Given the description of an element on the screen output the (x, y) to click on. 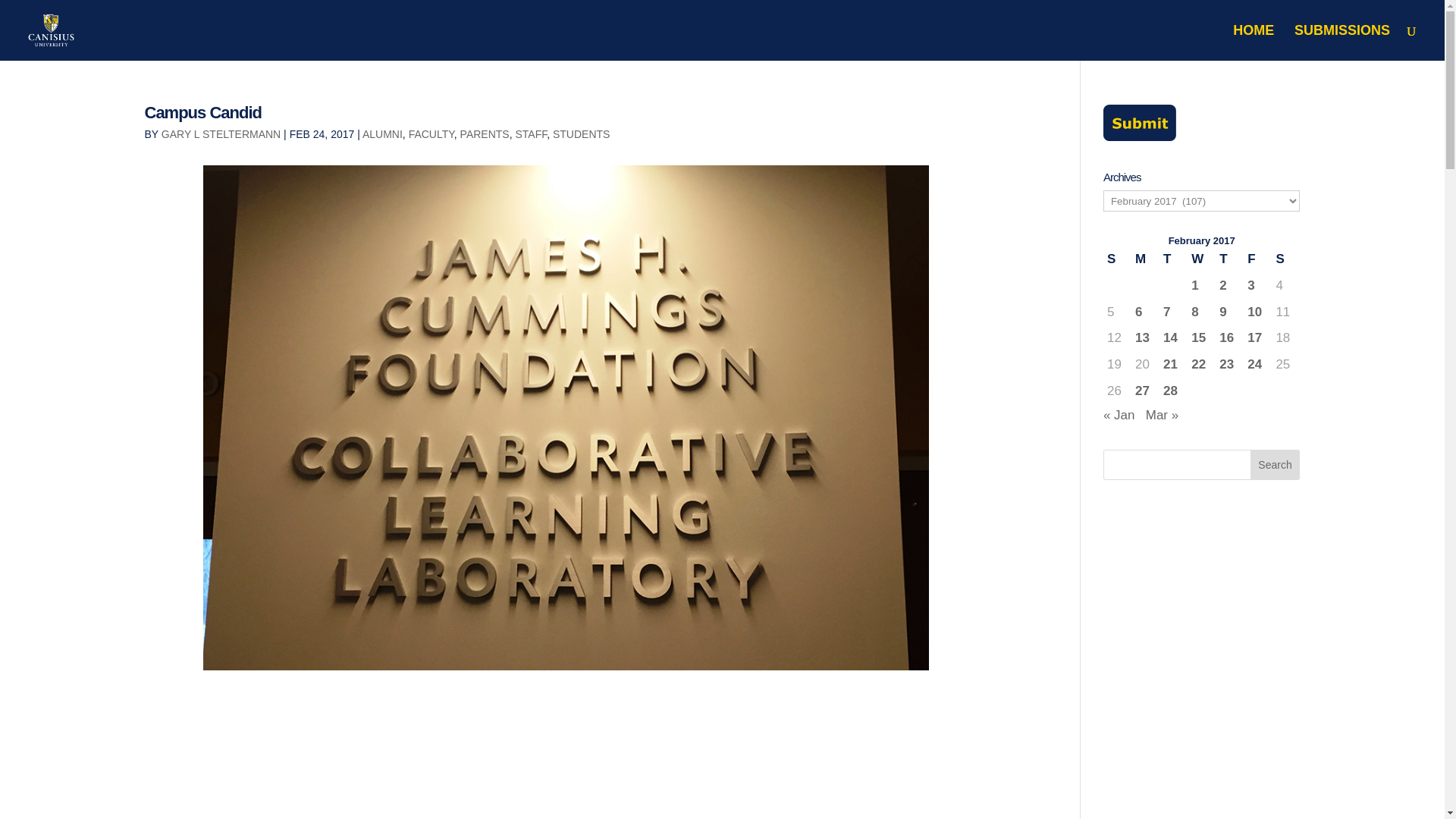
Tuesday (1173, 259)
FACULTY (431, 133)
Search (1275, 464)
Saturday (1285, 259)
PARENTS (484, 133)
Monday (1144, 259)
Posts by Gary L Steltermann (221, 133)
Sunday (1117, 259)
Campus Candid (202, 112)
Wednesday (1201, 259)
STAFF (531, 133)
Friday (1257, 259)
Thursday (1229, 259)
SUBMISSIONS (1342, 42)
STUDENTS (581, 133)
